Given the description of an element on the screen output the (x, y) to click on. 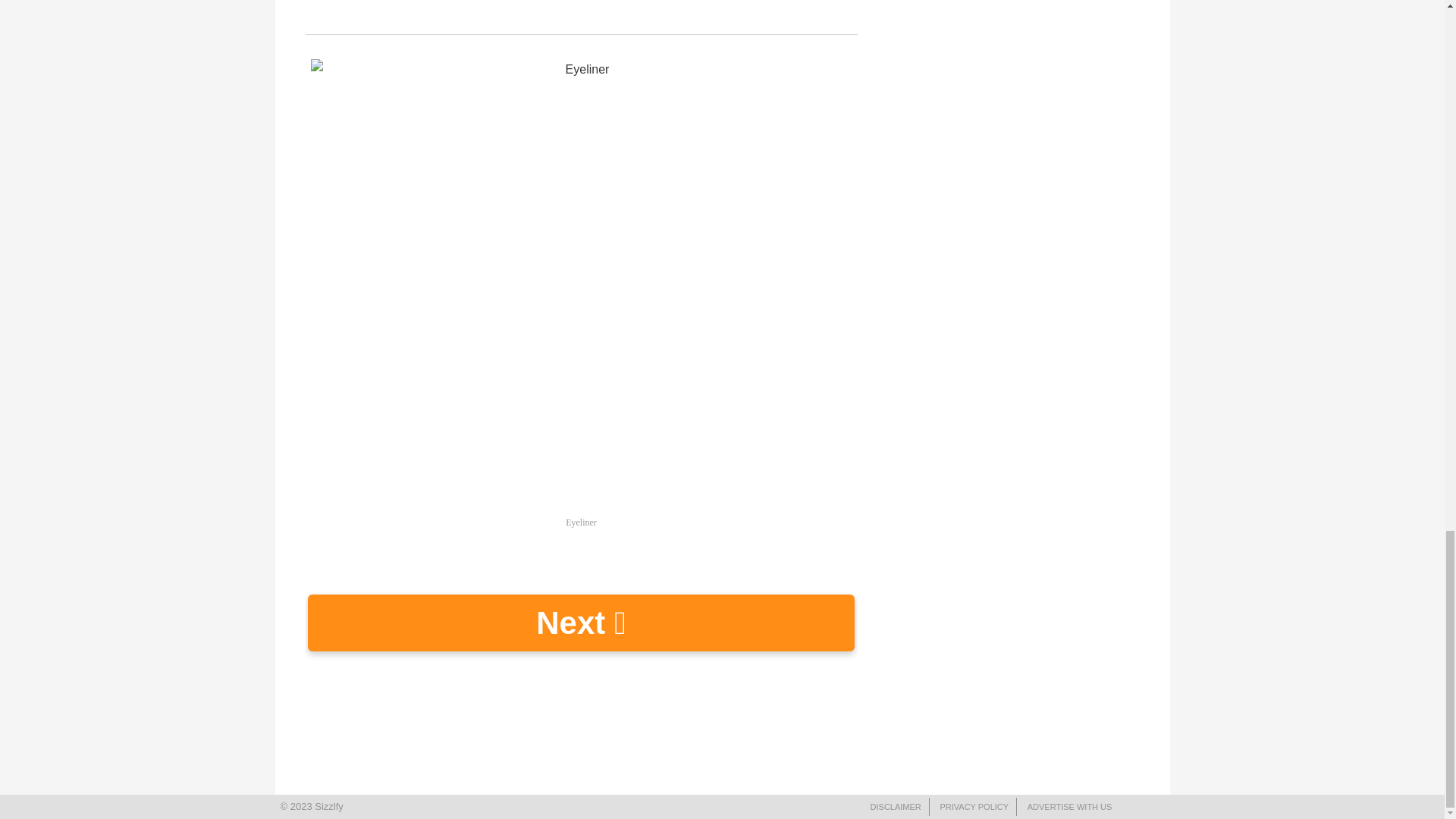
Next (580, 622)
ADVERTISE WITH US (1069, 806)
DISCLAIMER (895, 806)
PRIVACY POLICY (974, 806)
